Given the description of an element on the screen output the (x, y) to click on. 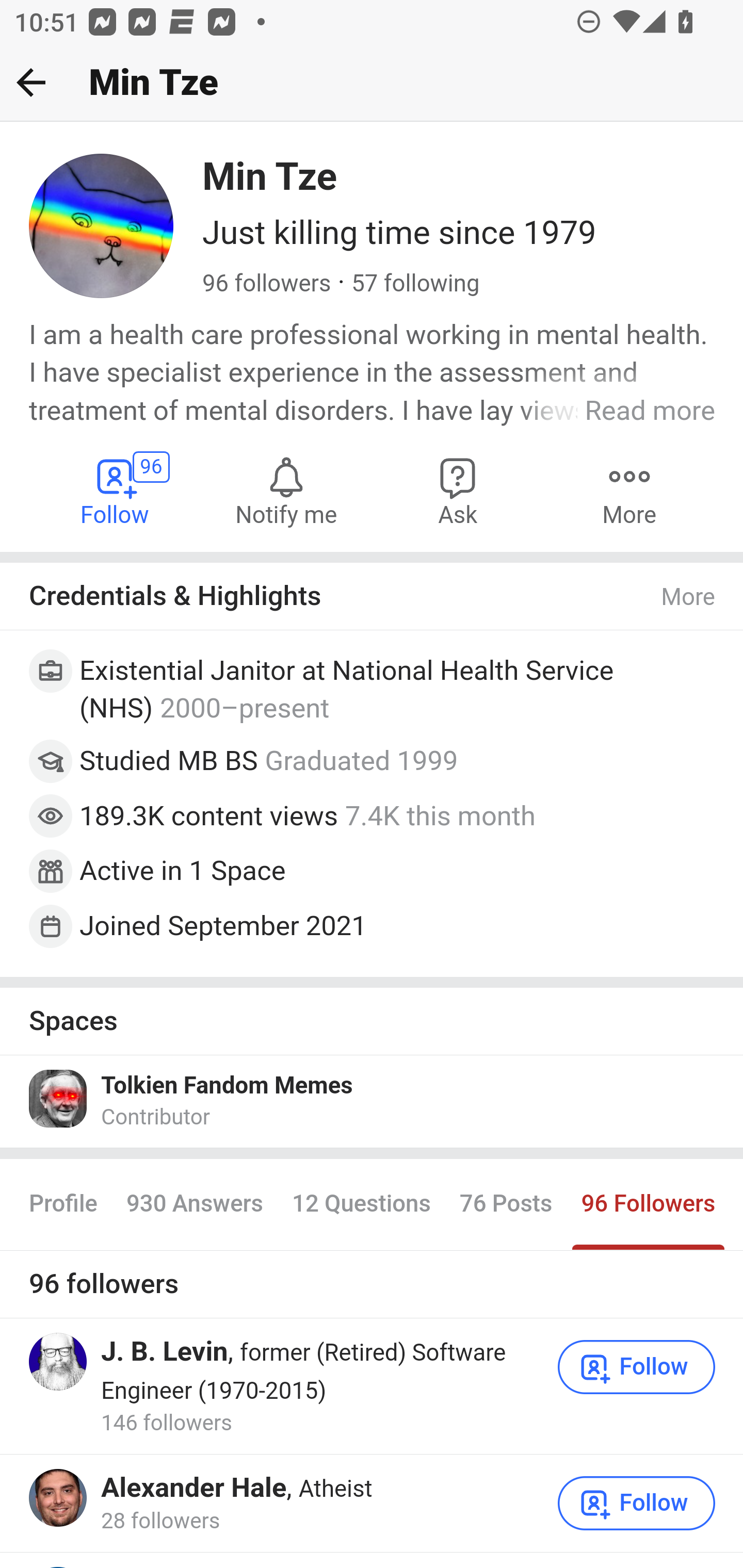
Back (30, 82)
96 followers (267, 284)
57 following (415, 284)
Follow Min Tze 96 Follow (115, 490)
Notify me (285, 490)
Ask (458, 490)
More (628, 490)
More (688, 597)
Icon for Tolkien Fandom Memes (58, 1098)
Tolkien Fandom Memes (227, 1086)
Profile (63, 1204)
930 Answers (193, 1204)
12 Questions (360, 1204)
76 Posts (505, 1204)
96 Followers (647, 1204)
Profile photo for J. B. Levin (58, 1361)
J. B. Levin (164, 1351)
Follow J. B. Levin Follow (636, 1367)
Profile photo for Alexander Hale (58, 1498)
Alexander Hale (193, 1488)
Follow Alexander Hale Follow (636, 1503)
